Given the description of an element on the screen output the (x, y) to click on. 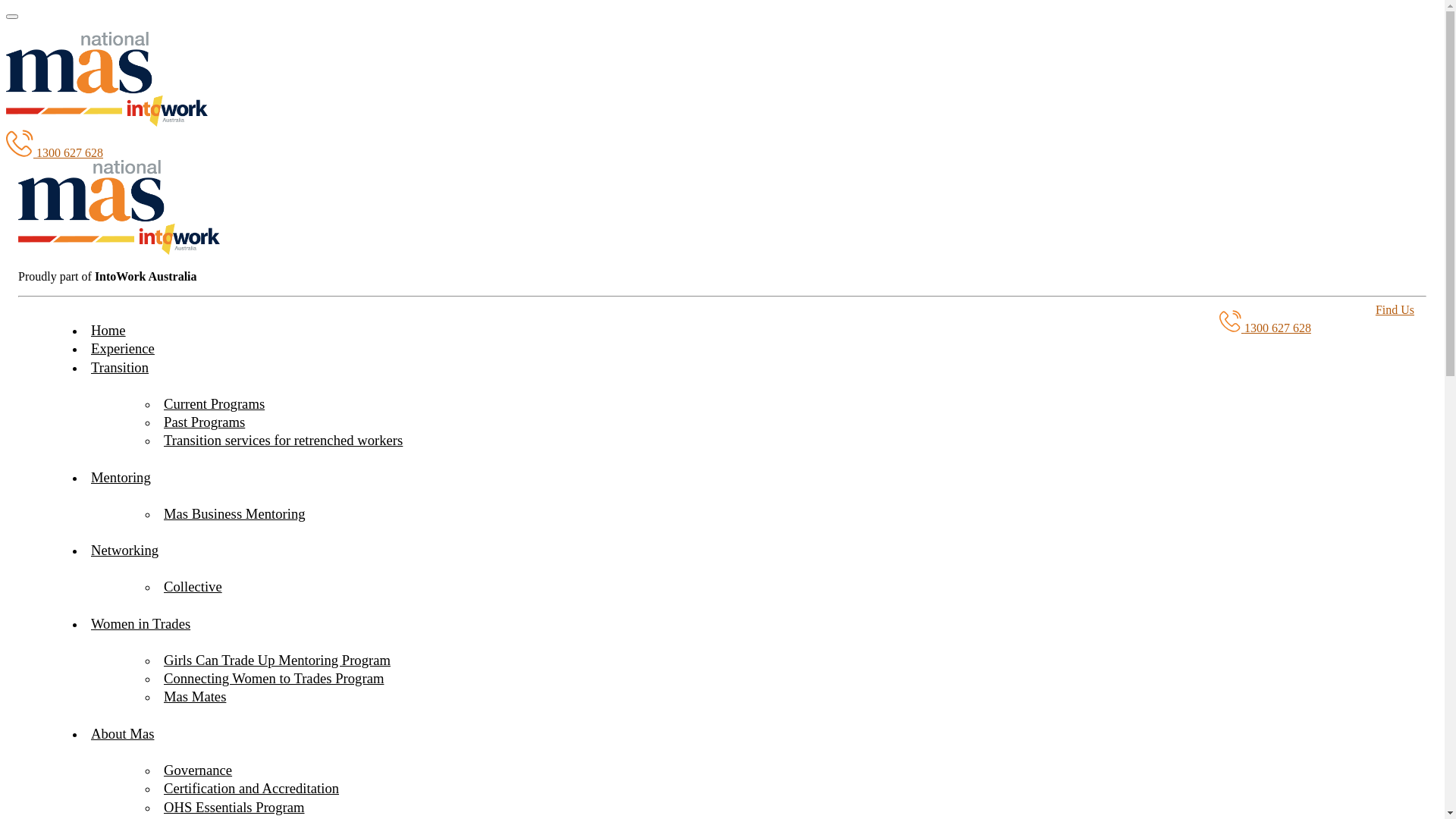
Transition services for retrenched workers Element type: text (282, 440)
Girls Can Trade Up Mentoring Program Element type: text (276, 660)
Governance Element type: text (197, 770)
Collective Element type: text (192, 586)
Connecting Women to Trades Program Element type: text (273, 678)
1300 627 628 Element type: text (1265, 327)
Certification and Accreditation Element type: text (250, 788)
Mas Mates Element type: text (194, 696)
Mentoring Element type: text (120, 477)
OHS Essentials Program Element type: text (233, 807)
Transition Element type: text (119, 367)
Home Element type: text (108, 330)
Past Programs Element type: text (203, 421)
Networking Element type: text (124, 550)
About Mas Element type: text (122, 733)
Current Programs Element type: text (213, 403)
1300 627 628 Element type: text (54, 152)
Mas Business Mentoring Element type: text (234, 513)
Menu Element type: text (12, 16)
Women in Trades Element type: text (140, 623)
Find Us Element type: text (1394, 309)
Experience Element type: text (122, 348)
